Given the description of an element on the screen output the (x, y) to click on. 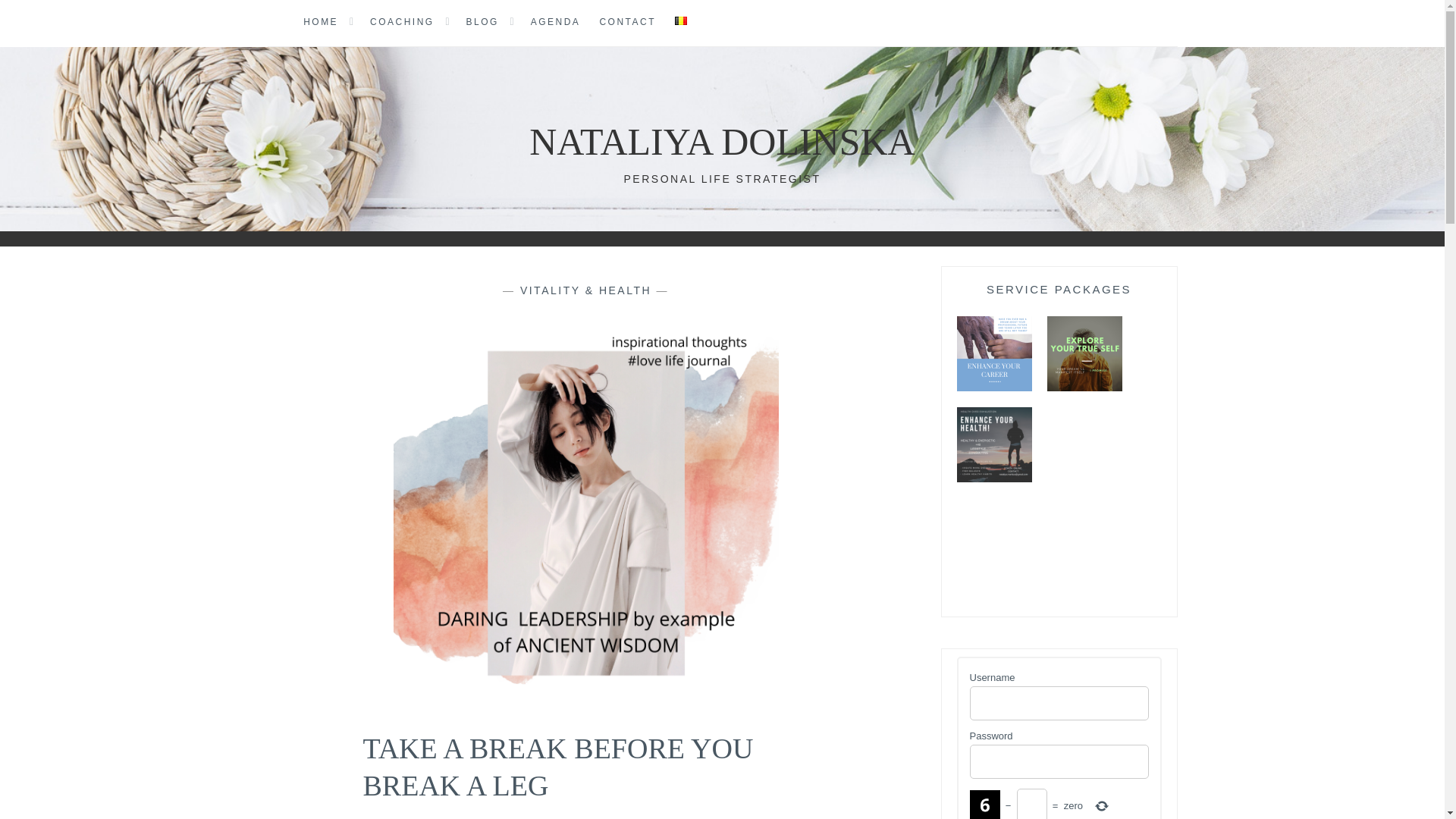
CONTACT (627, 22)
HOME (319, 22)
AGENDA (555, 22)
Please enter username (1058, 703)
BLOG (481, 22)
NATALIYA DOLINSKA (721, 141)
Please enter password (1058, 761)
COACHING (401, 22)
